Given the description of an element on the screen output the (x, y) to click on. 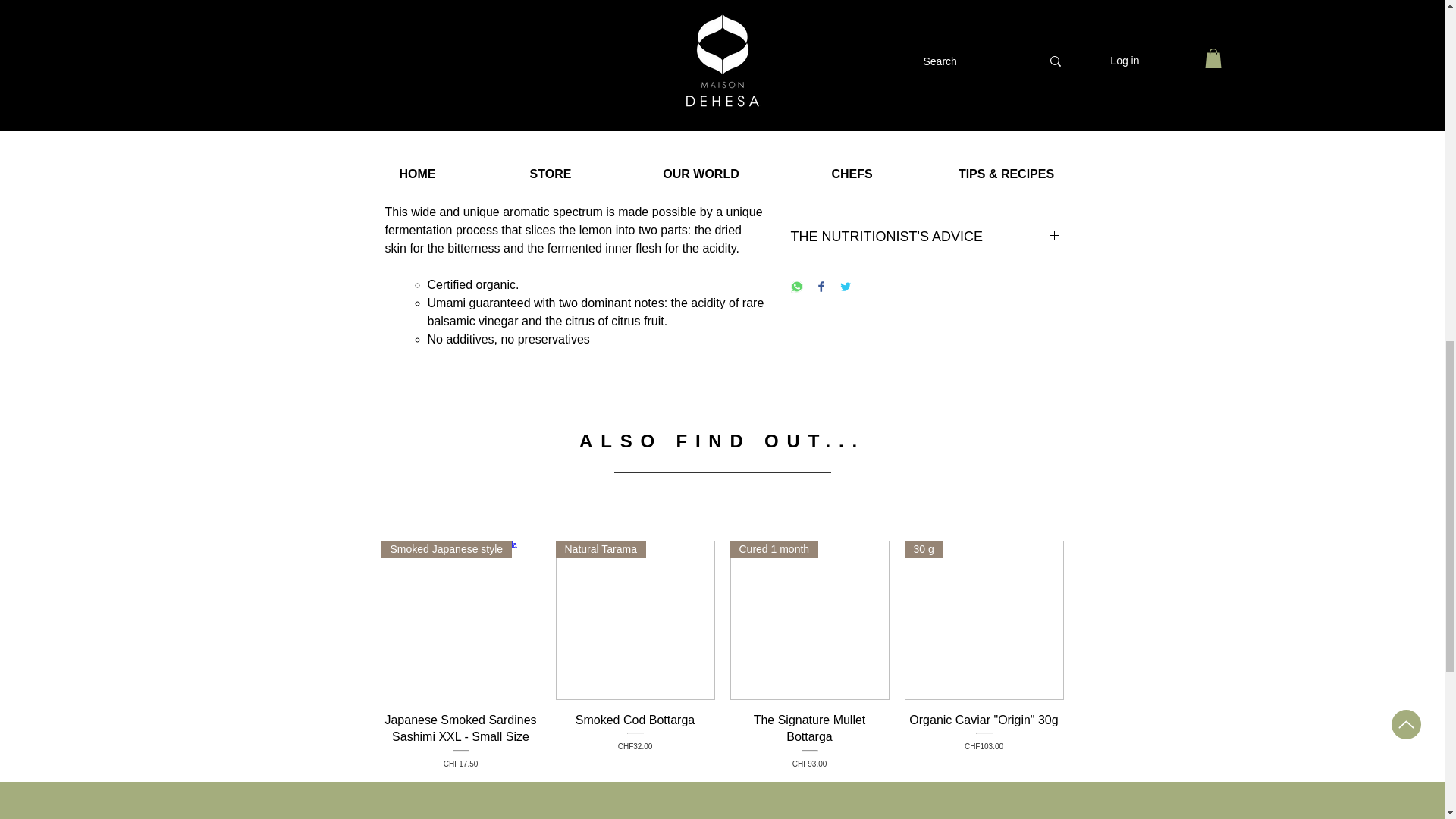
Cured 1 month (808, 620)
Smoked Japanese style (460, 620)
TASTING AT HOME (924, 67)
THE PRODUCER (634, 740)
CHEF'S RECIPE (924, 180)
THE NUTRITIONIST'S ADVICE (924, 124)
Natural Tarama (924, 236)
